Given the description of an element on the screen output the (x, y) to click on. 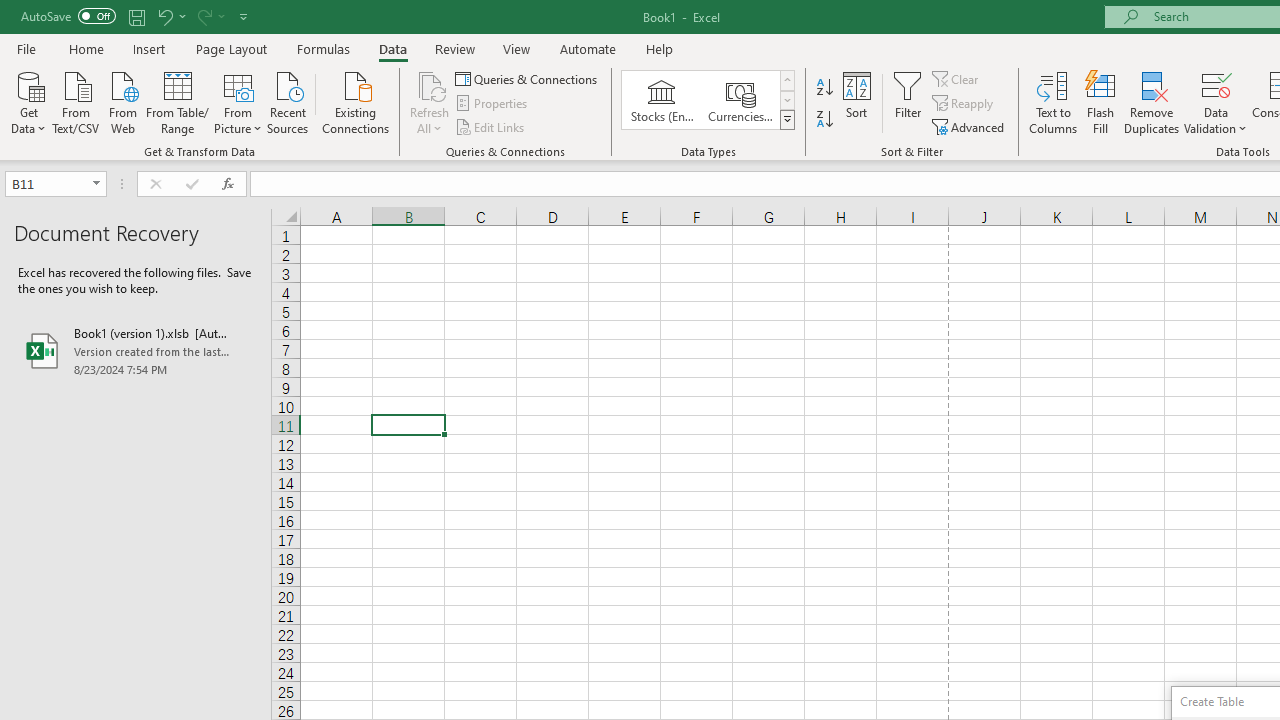
Filter (908, 102)
Clear (957, 78)
From Table/Range (177, 101)
Remove Duplicates (1151, 102)
Sort A to Z (824, 87)
Properties (492, 103)
